Given the description of an element on the screen output the (x, y) to click on. 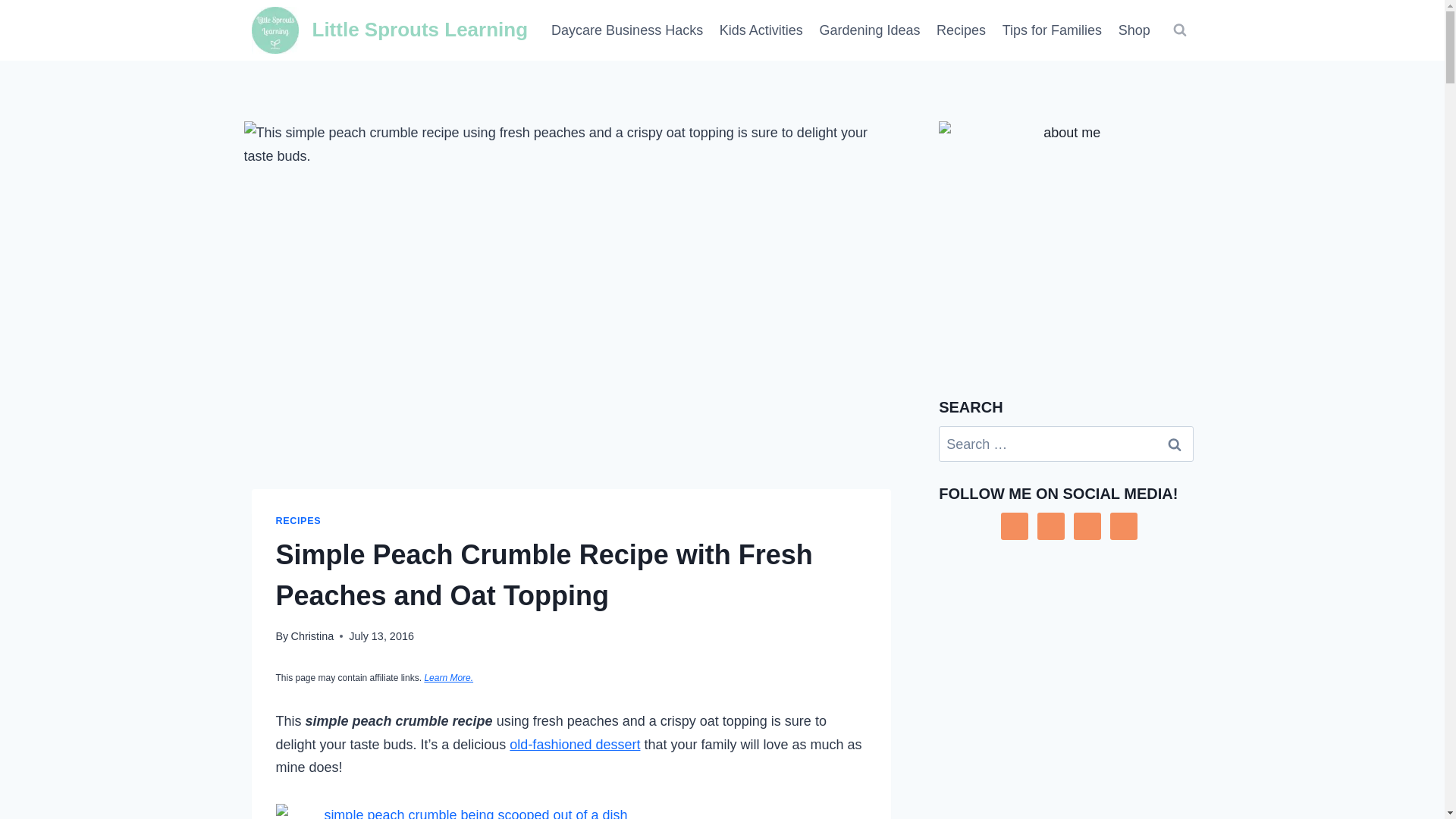
tips for families, child development (1051, 29)
RECIPES (298, 520)
recipes, cooking with kids (961, 29)
Search (1174, 443)
Tips for Families (1051, 29)
Little Sprouts Learning (389, 30)
Recipes (961, 29)
Gardening Ideas (869, 29)
Daycare Business Hacks (627, 29)
Christina (311, 635)
Kids Activities (760, 29)
Daycare Business Hacks (627, 29)
Shop (1133, 29)
